Given the description of an element on the screen output the (x, y) to click on. 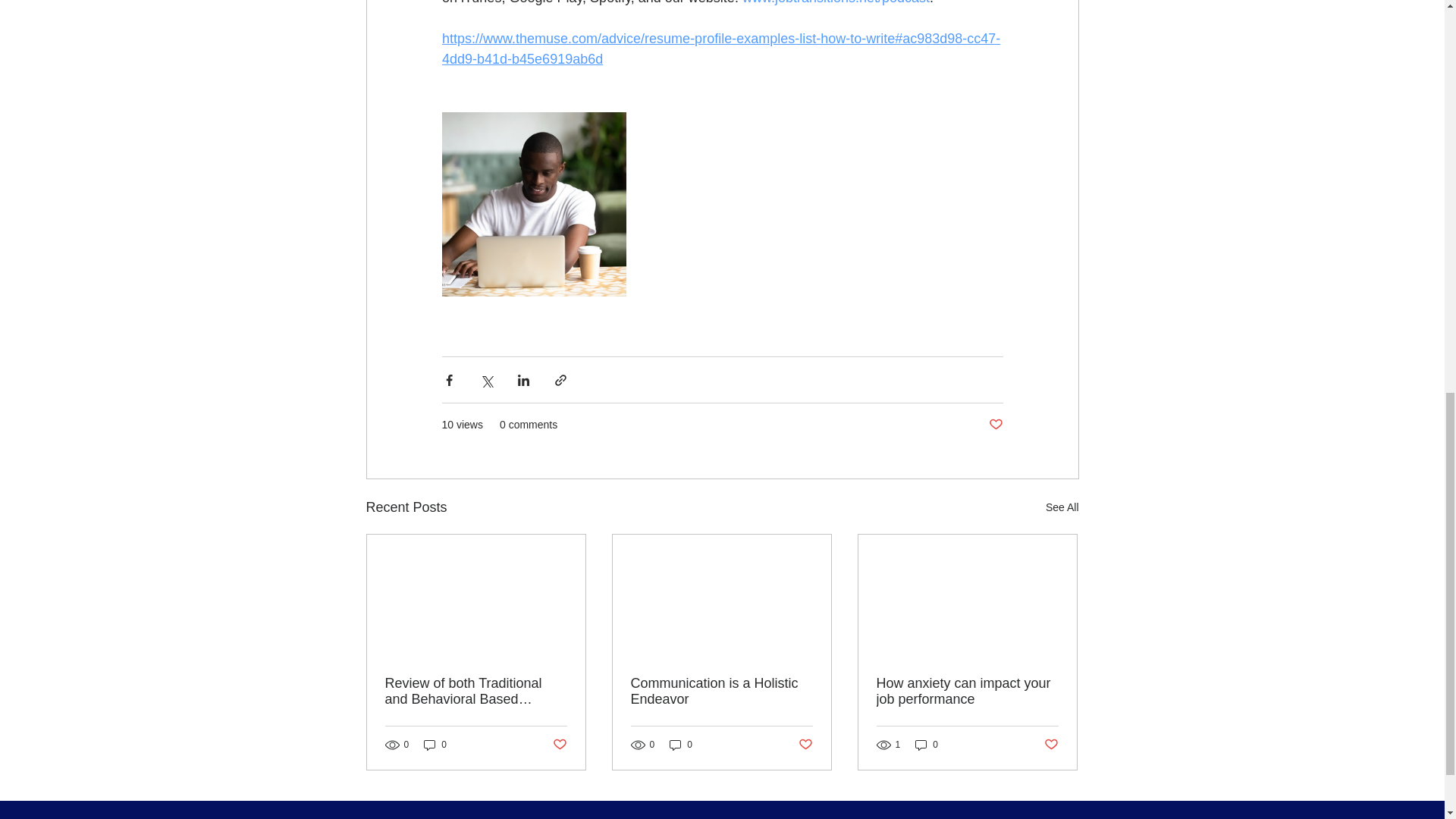
Post not marked as liked (995, 424)
Post not marked as liked (804, 744)
0 (926, 744)
0 (435, 744)
Communication is a Holistic Endeavor (721, 691)
How anxiety can impact your job performance (967, 691)
Post not marked as liked (1050, 744)
Post not marked as liked (558, 744)
See All (1061, 507)
0 (681, 744)
